Given the description of an element on the screen output the (x, y) to click on. 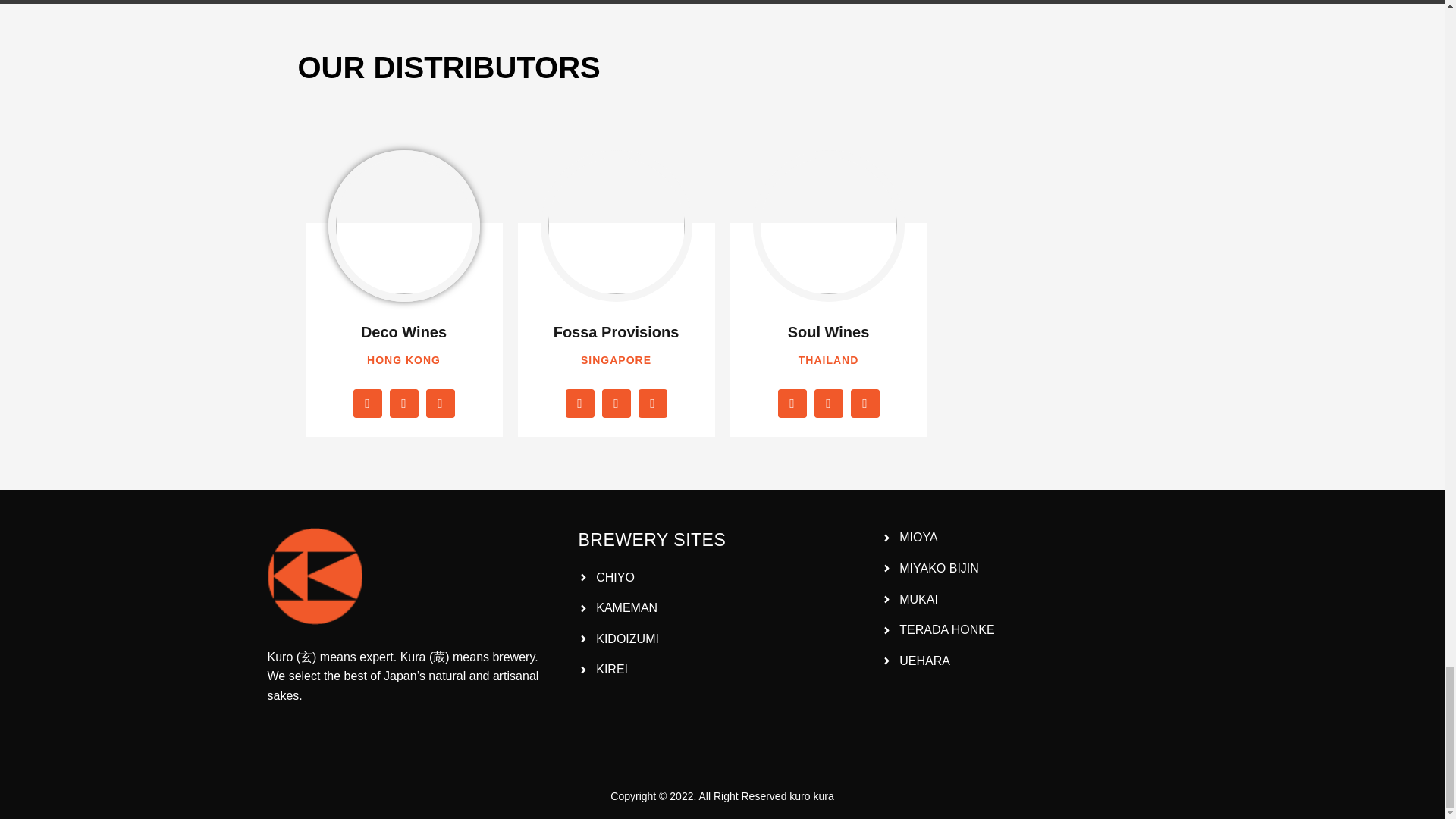
MIOYA (1028, 537)
TERADA HONKE (1028, 629)
MIYAKO BIJIN (1028, 568)
KAMEMAN (725, 608)
KIDOIZUMI (725, 639)
CHIYO (725, 578)
MUKAI (1028, 599)
KIREI (725, 669)
